Given the description of an element on the screen output the (x, y) to click on. 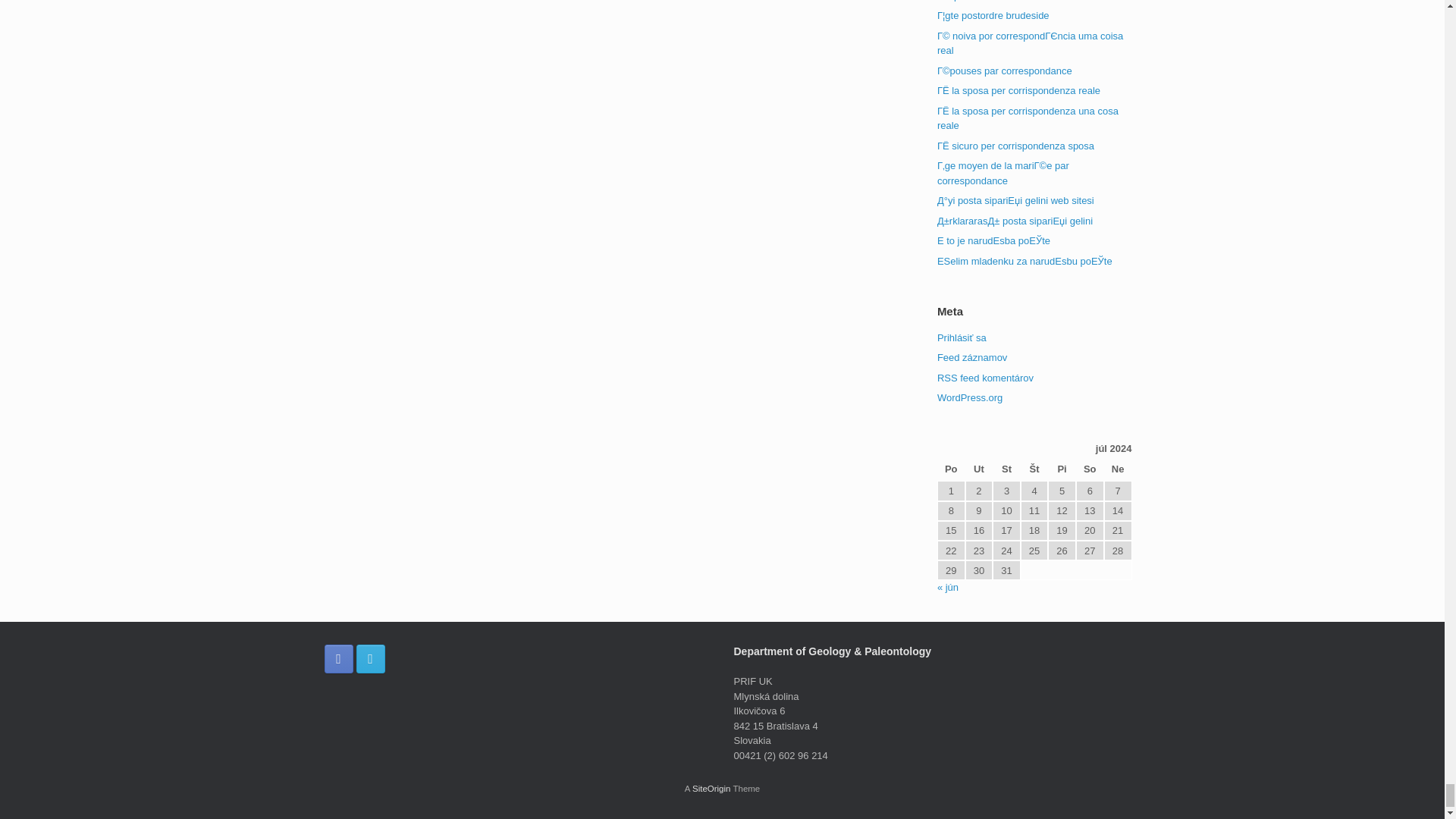
sobota (1089, 470)
utorok (978, 470)
piatok (1061, 470)
pondelok (951, 470)
streda (1006, 470)
